Given the description of an element on the screen output the (x, y) to click on. 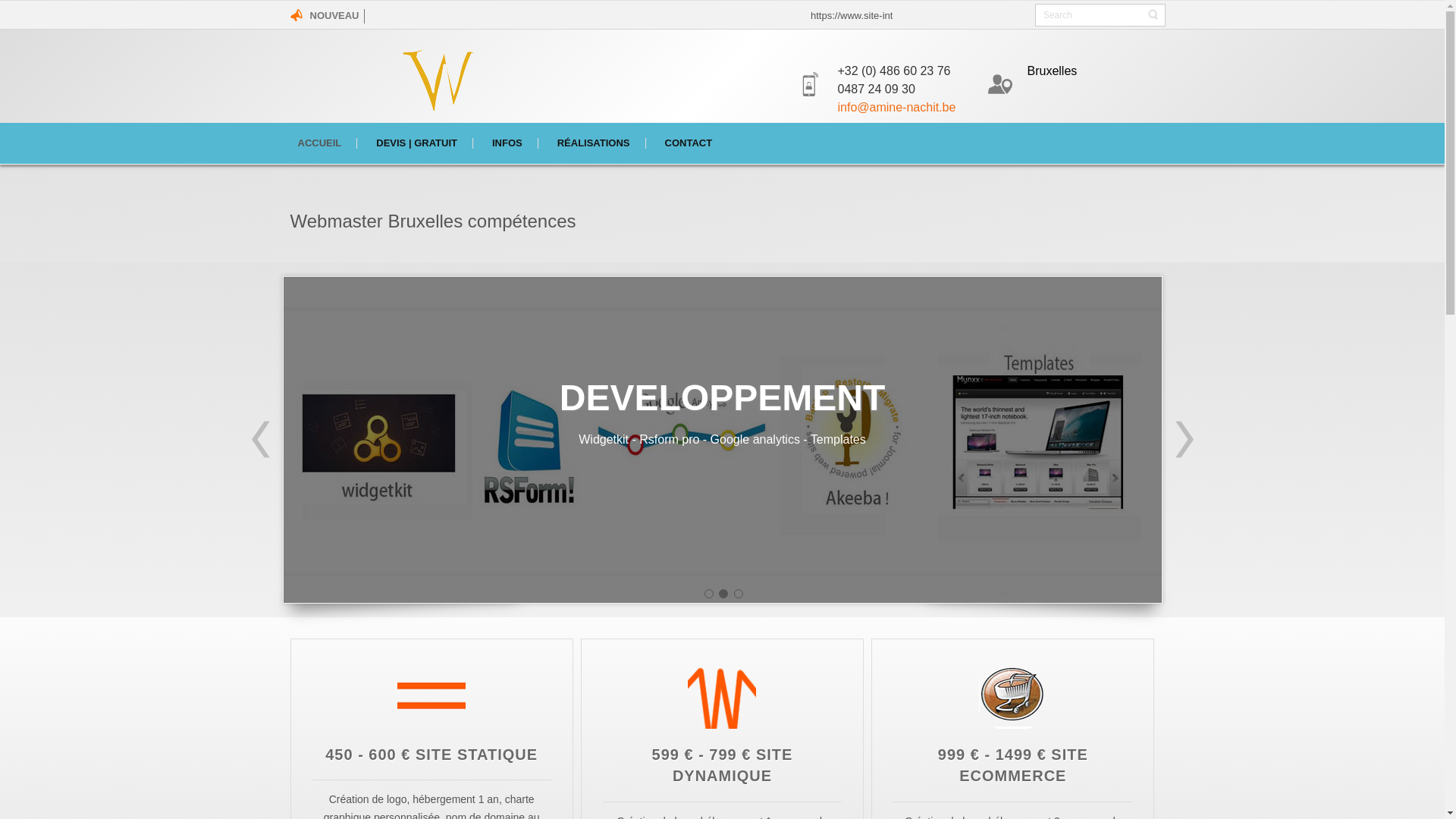
ACCUEIL Element type: text (319, 143)
INFOS Element type: text (507, 143)
info@amine-nachit.be Element type: text (896, 106)
https://www.site-internet-webmaster.com/ Element type: text (976, 15)
CONTACT Element type: text (688, 143)
DEVIS | GRATUIT Element type: text (416, 143)
